Given the description of an element on the screen output the (x, y) to click on. 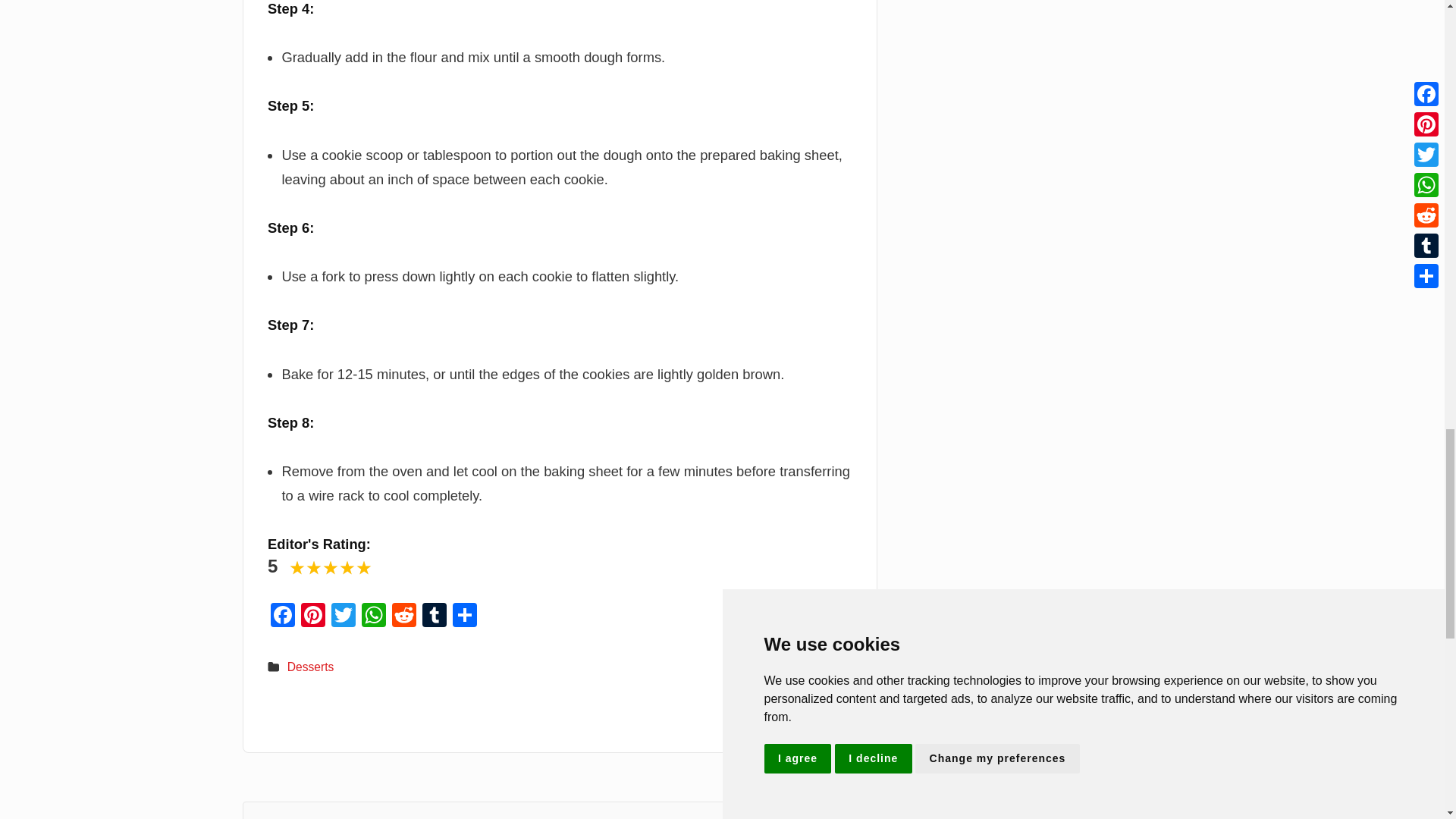
Desserts (310, 666)
Reddit (403, 616)
Share (464, 616)
Facebook (282, 616)
Leave A Comment (560, 810)
WhatsApp (373, 616)
Twitter (343, 616)
Facebook (282, 616)
Twitter (343, 616)
Reddit (403, 616)
WhatsApp (373, 616)
Pinterest (313, 616)
Pinterest (313, 616)
Tumblr (434, 616)
Tumblr (434, 616)
